Given the description of an element on the screen output the (x, y) to click on. 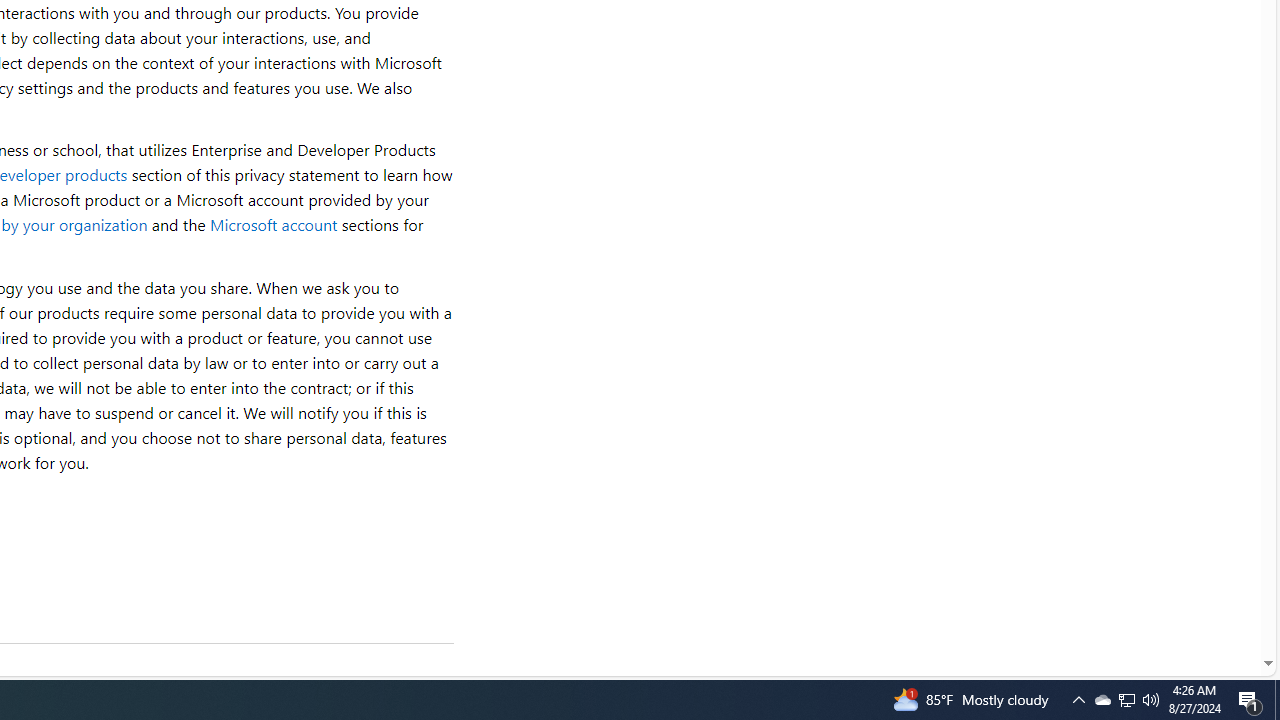
Microsoft account (273, 224)
